Given the description of an element on the screen output the (x, y) to click on. 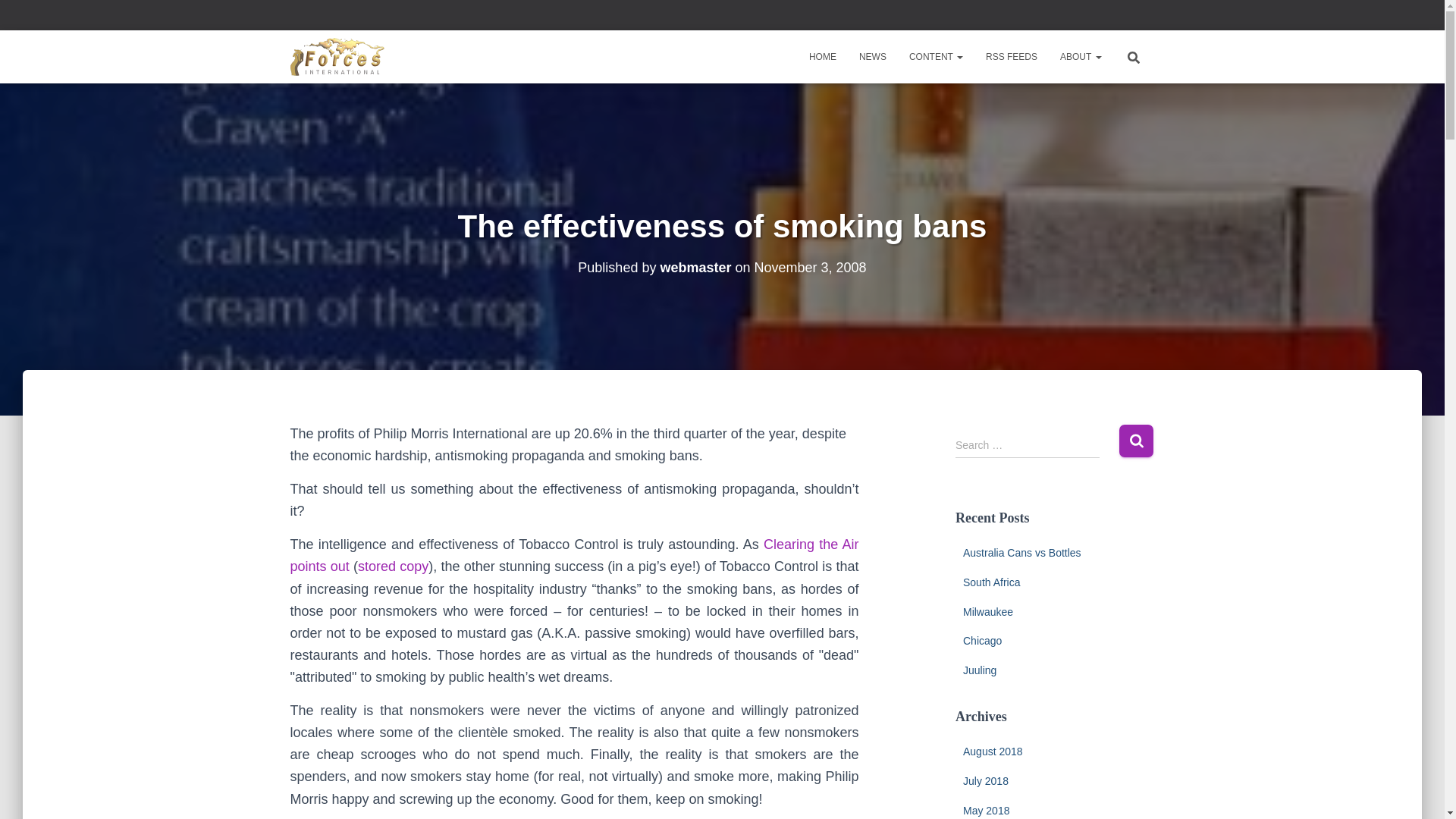
News (872, 56)
Home (822, 56)
About (1080, 56)
ABOUT (1080, 56)
CONTENT (936, 56)
RSS FEEDS (1011, 56)
Australia Cans vs Bottles (1021, 552)
stored copy (393, 566)
May 2018 (985, 810)
Juuling (978, 670)
